Given the description of an element on the screen output the (x, y) to click on. 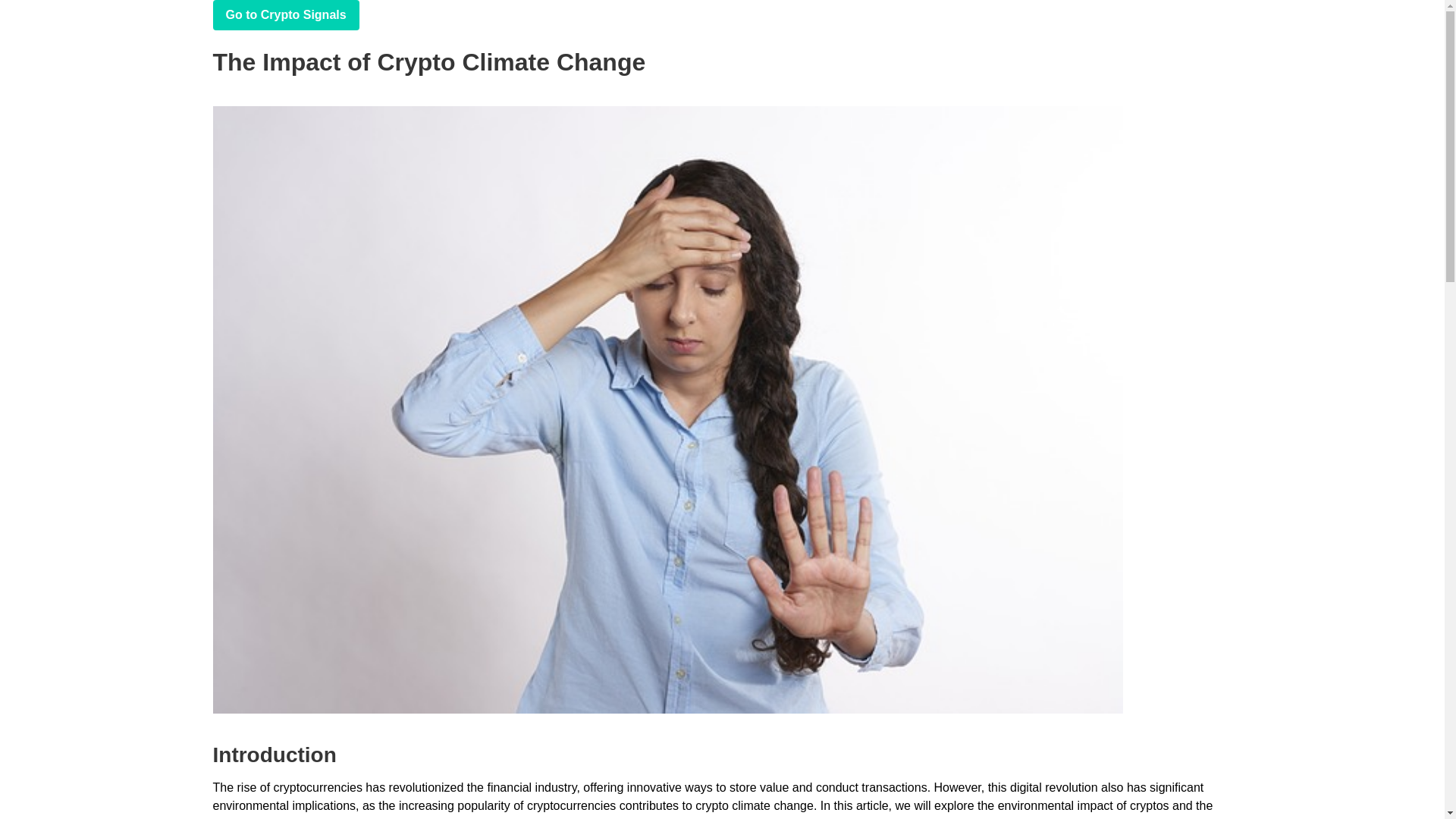
Go to Crypto Signals (285, 15)
play (285, 15)
